Given the description of an element on the screen output the (x, y) to click on. 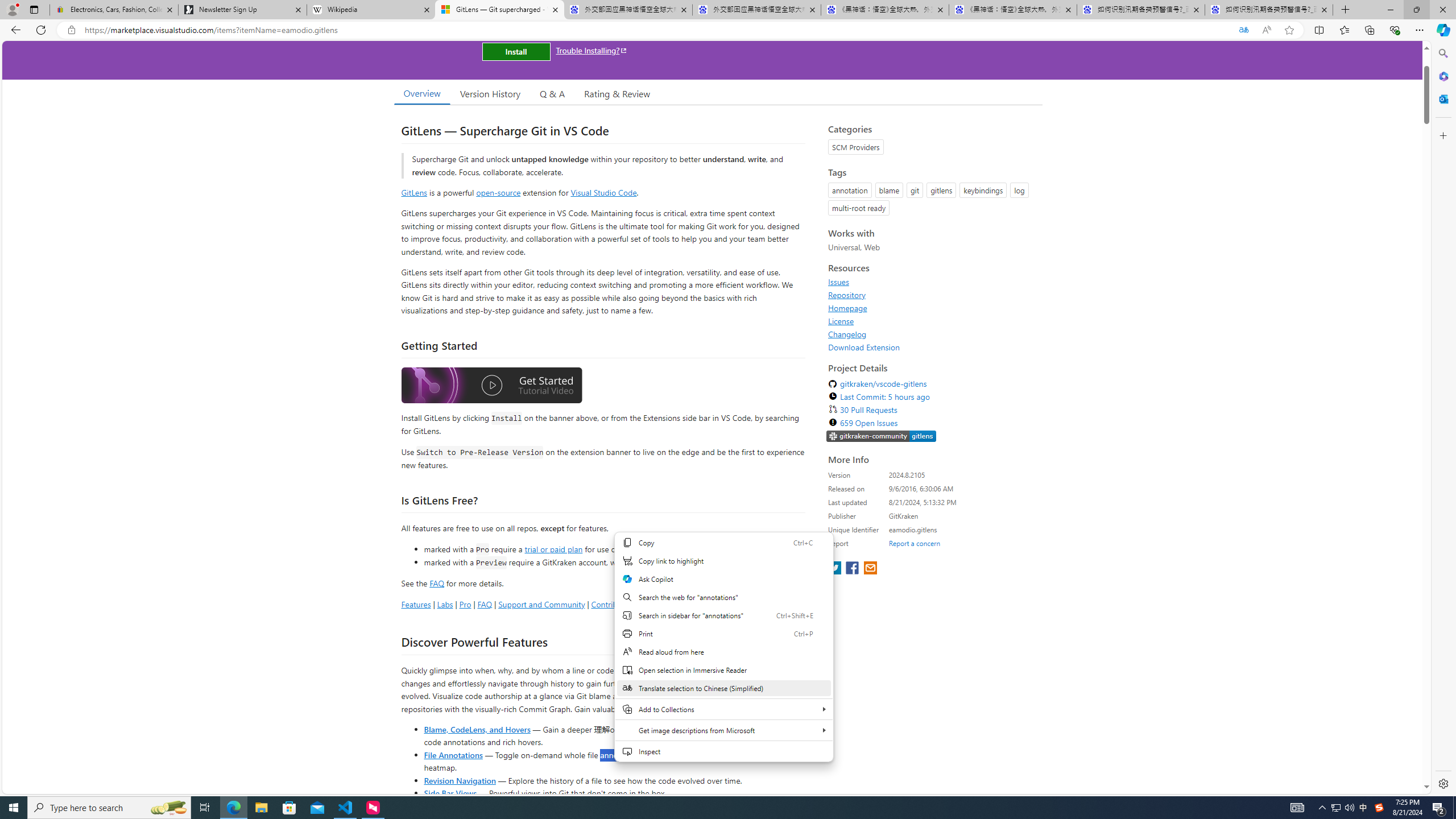
share extension on email (869, 568)
Contributing (613, 603)
Copy (723, 542)
Download Extension (931, 346)
License (840, 320)
Translated (1243, 29)
https://slack.gitkraken.com// (881, 436)
Search the web for "annotations" (723, 597)
